Given the description of an element on the screen output the (x, y) to click on. 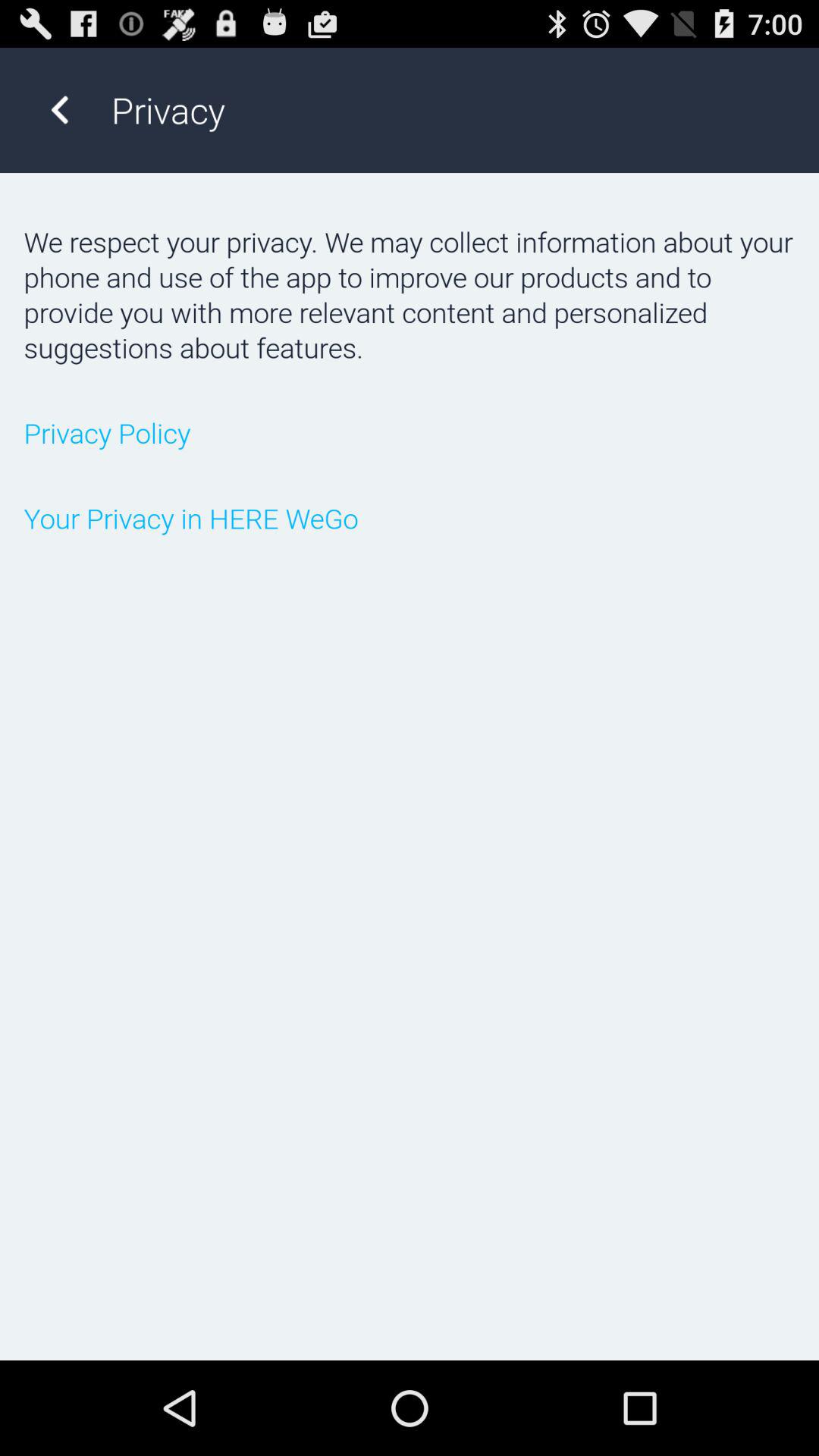
jump to the privacy policy (409, 432)
